Given the description of an element on the screen output the (x, y) to click on. 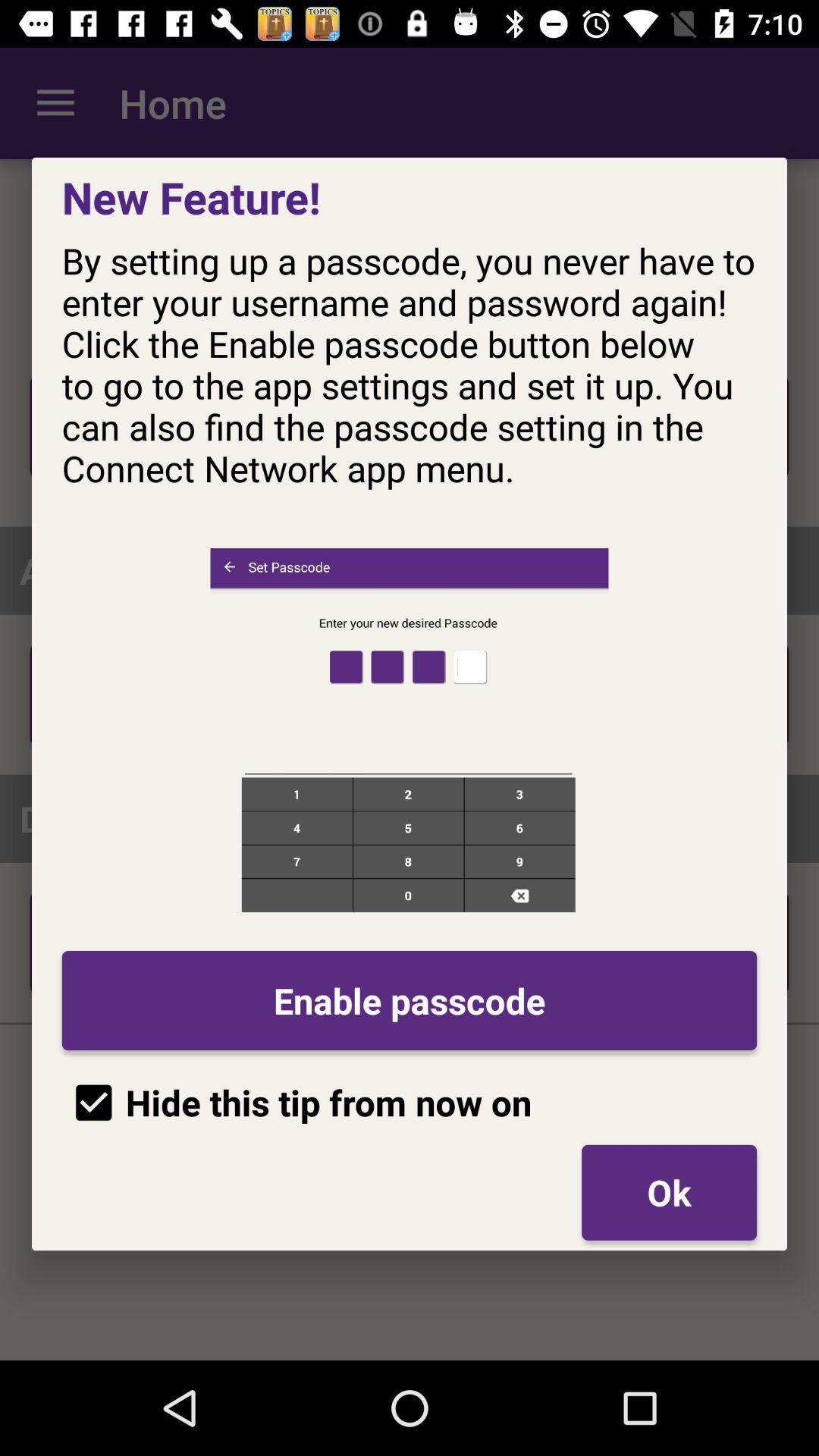
choose the item to the left of the ok (296, 1102)
